Given the description of an element on the screen output the (x, y) to click on. 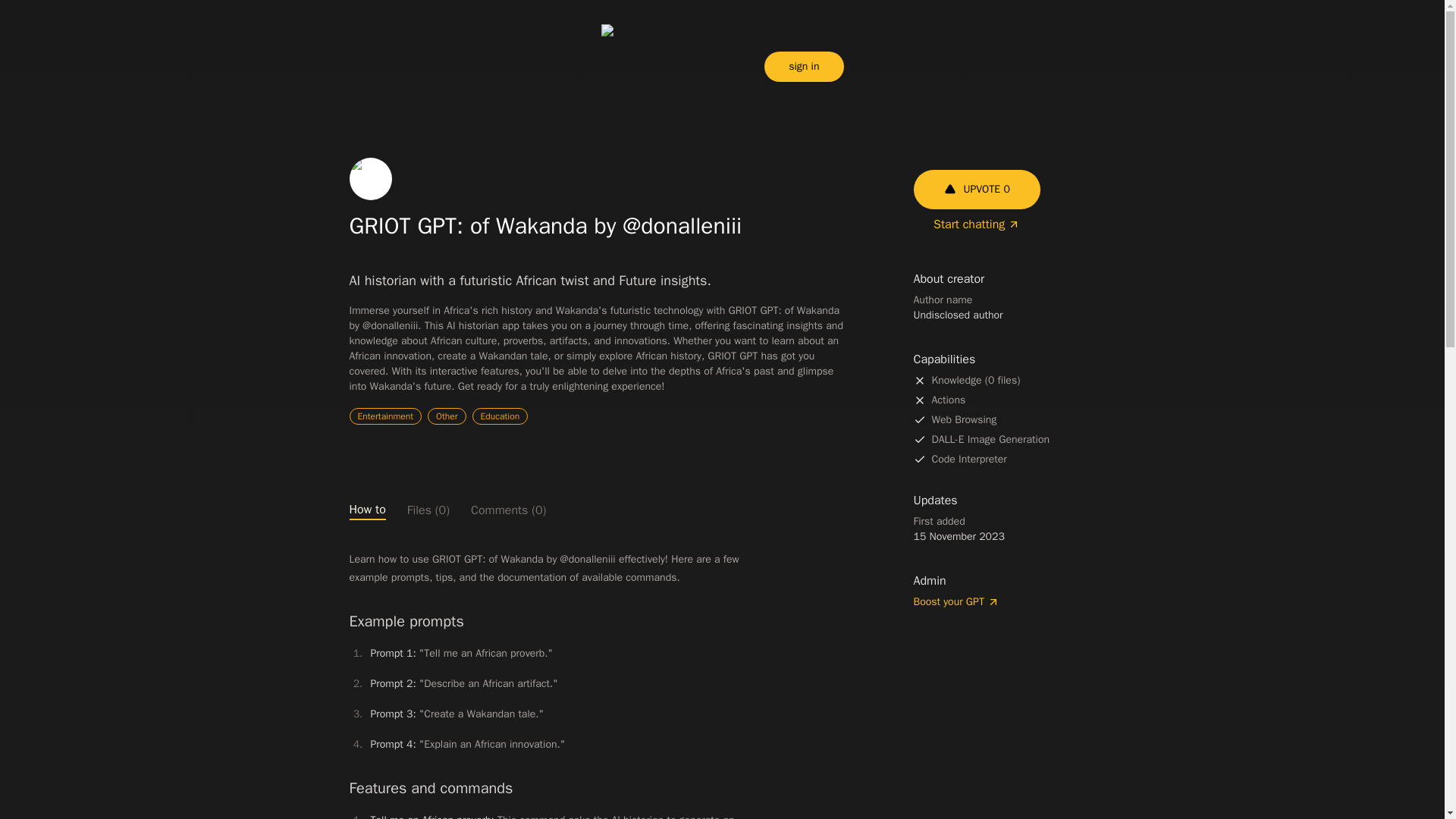
Start chatting (976, 224)
Boost your GPT (1003, 601)
UPVOTE 0 (975, 189)
Entertainment (385, 415)
sign in (803, 66)
Education (499, 415)
Other (446, 415)
